Given the description of an element on the screen output the (x, y) to click on. 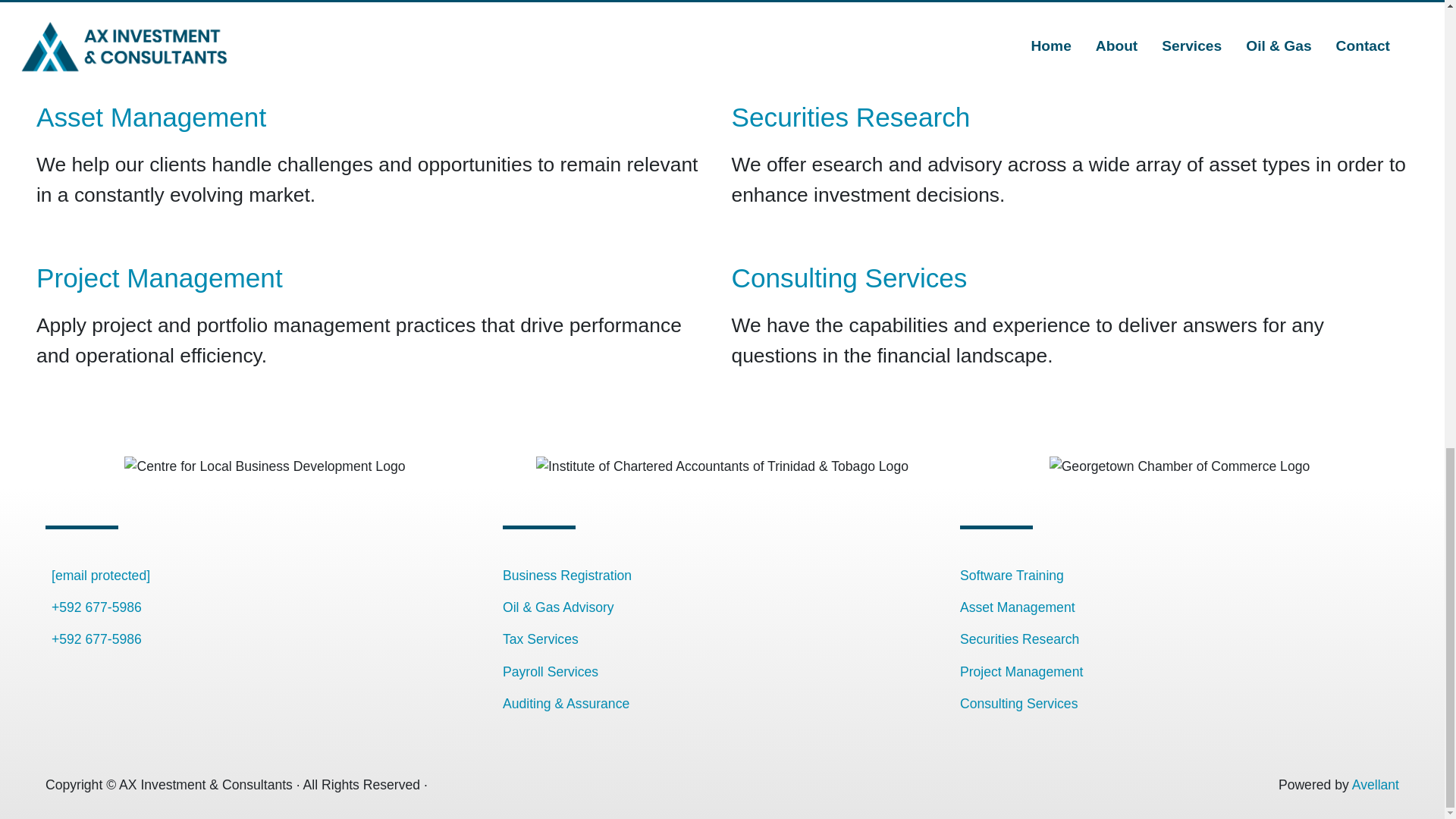
Software Training (1011, 575)
Consulting Services (1018, 703)
Project Management (159, 277)
Consulting Services (848, 277)
Tax Services (540, 639)
Securities Research (1018, 639)
Business Registration (566, 575)
Asset Management (151, 116)
Payroll Services (550, 671)
Project Management (1021, 671)
